Given the description of an element on the screen output the (x, y) to click on. 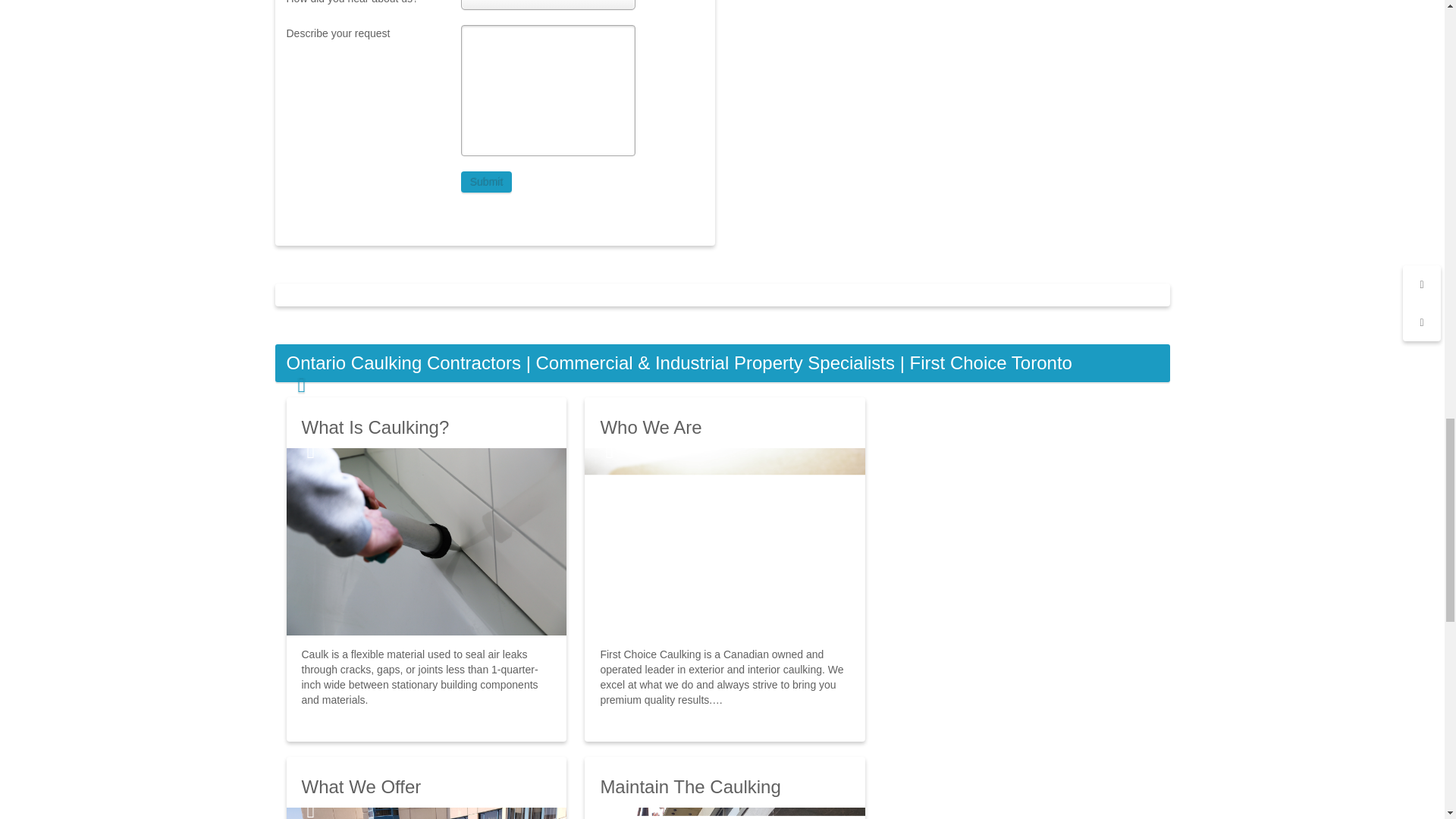
Submit (486, 181)
